Given the description of an element on the screen output the (x, y) to click on. 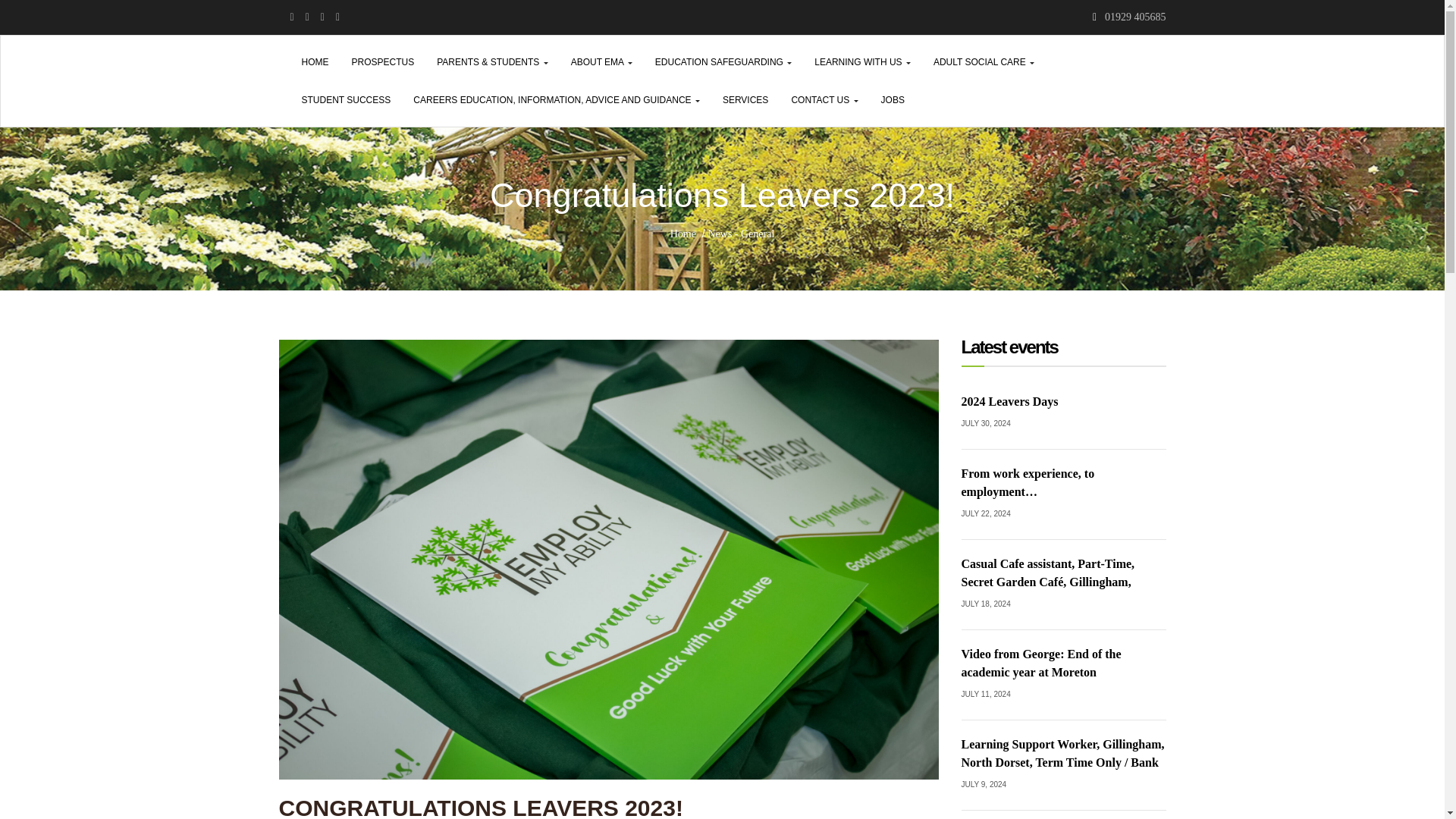
JOBS (892, 99)
PROSPECTUS (382, 61)
CONTACT US (823, 99)
SERVICES (744, 99)
ADULT SOCIAL CARE (983, 61)
ABOUT EMA (601, 61)
HOME (314, 61)
CAREERS EDUCATION, INFORMATION, ADVICE AND GUIDANCE (556, 99)
EDUCATION SAFEGUARDING (723, 61)
STUDENT SUCCESS (345, 99)
01929 405685 (1135, 16)
LEARNING WITH US (862, 61)
